Given the description of an element on the screen output the (x, y) to click on. 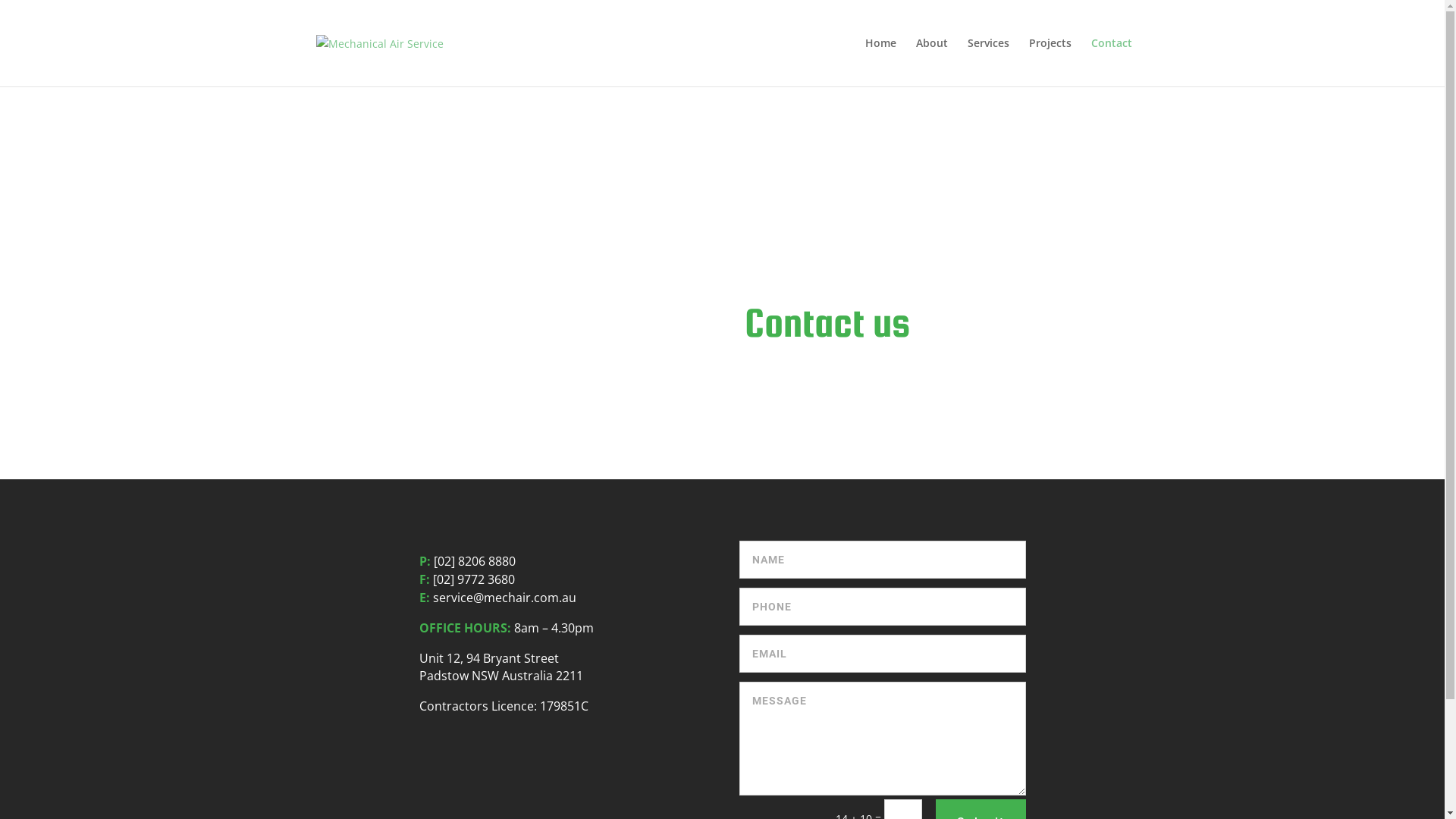
Projects Element type: text (1049, 61)
About Element type: text (931, 61)
Home Element type: text (879, 61)
Contact Element type: text (1110, 61)
Services Element type: text (988, 61)
